Given the description of an element on the screen output the (x, y) to click on. 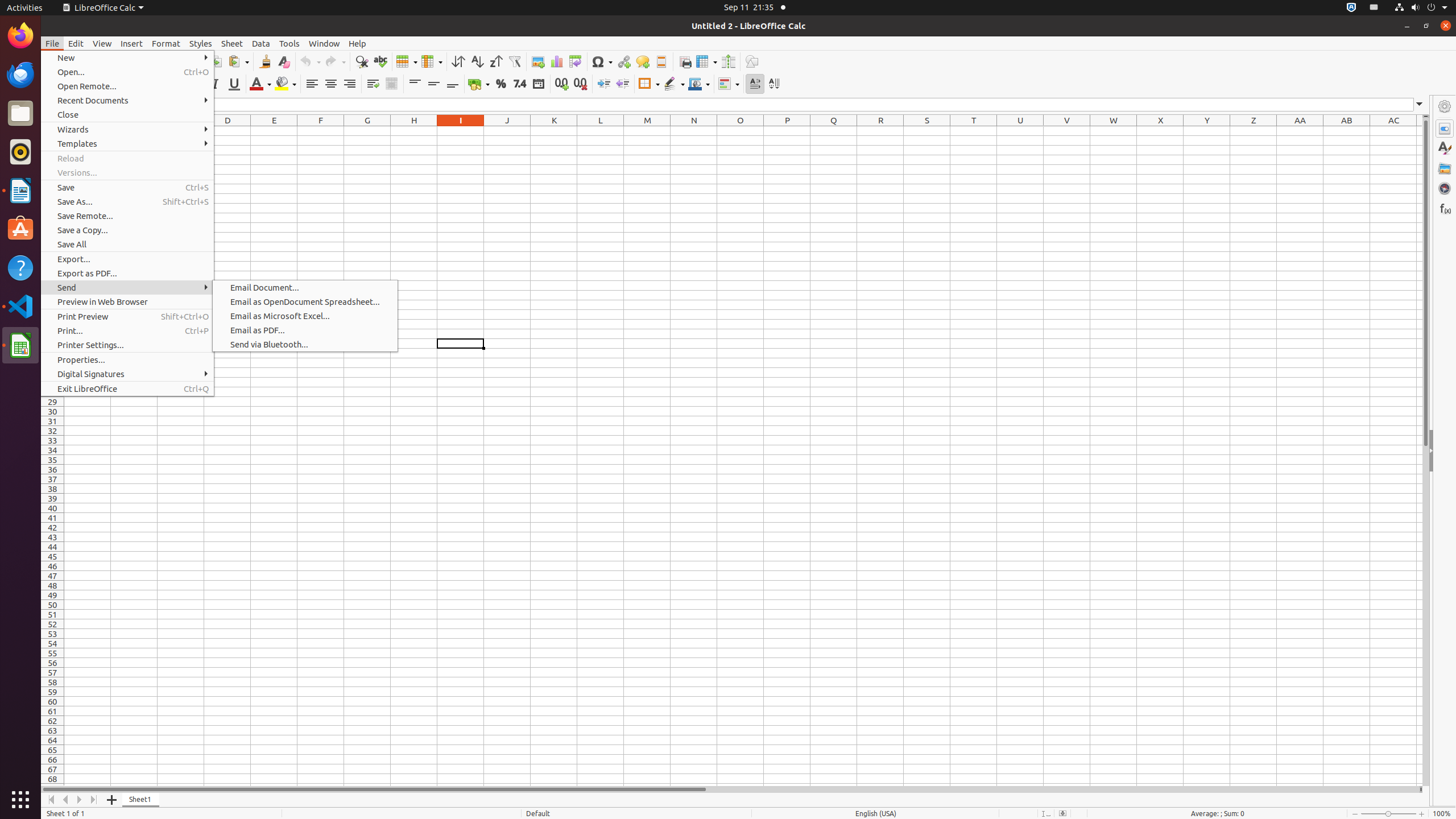
U1 Element type: table-cell (1020, 130)
M1 Element type: table-cell (646, 130)
Find & Replace Element type: toggle-button (361, 61)
Send via Bluetooth... Element type: menu-item (304, 344)
Comment Element type: push-button (642, 61)
